Given the description of an element on the screen output the (x, y) to click on. 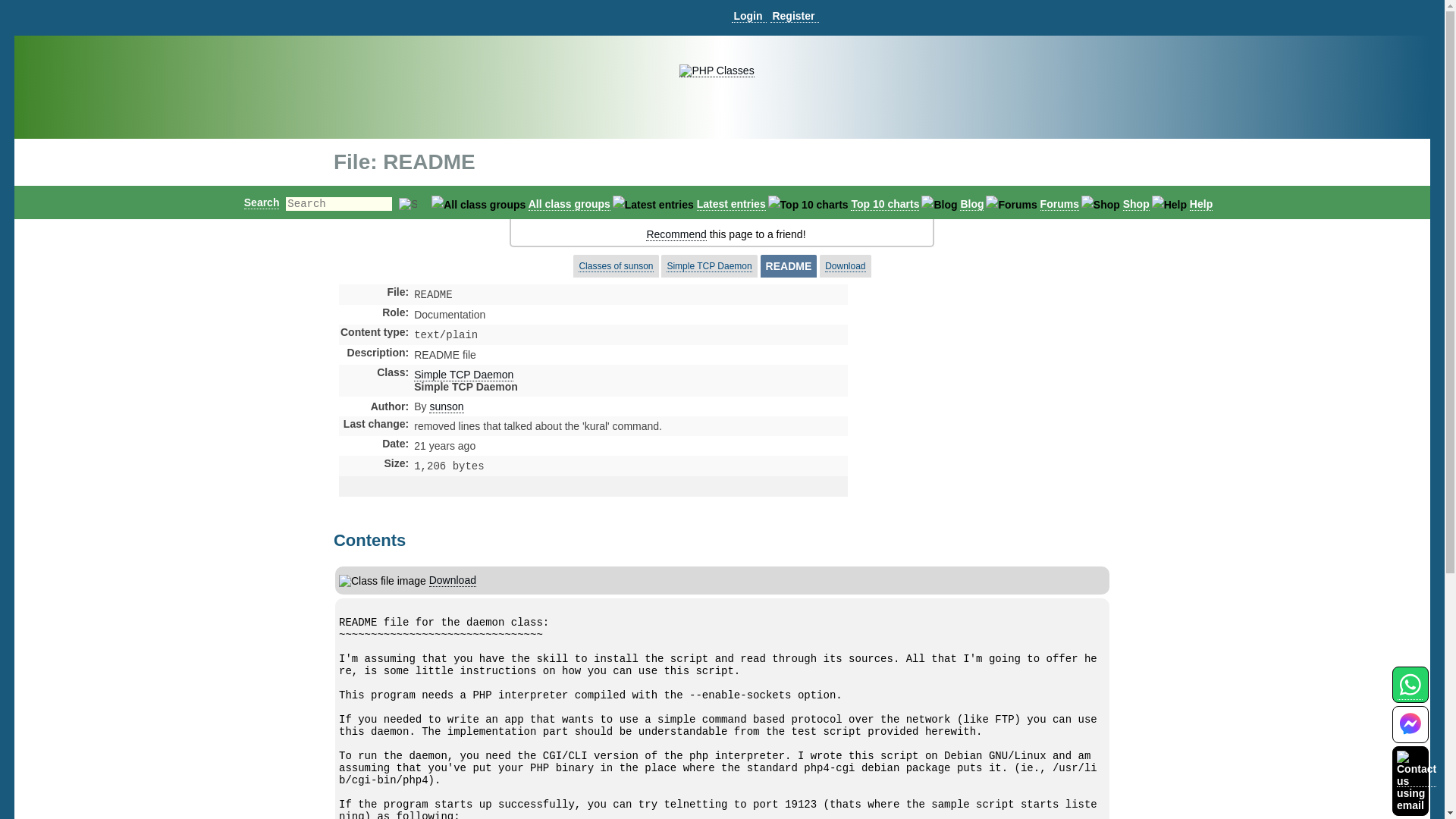
Shop (1136, 204)
Download (452, 579)
Contact us using Messenger (1409, 733)
Simple TCP Daemon (463, 374)
Top 10 charts (884, 204)
Simple TCP Daemon (708, 266)
Contact us using email (1415, 780)
Classes of sunson (615, 266)
Login (748, 15)
Forums (1059, 204)
Register (794, 15)
sunson (446, 406)
Recommend (676, 234)
Search (261, 201)
Blog (971, 204)
